Given the description of an element on the screen output the (x, y) to click on. 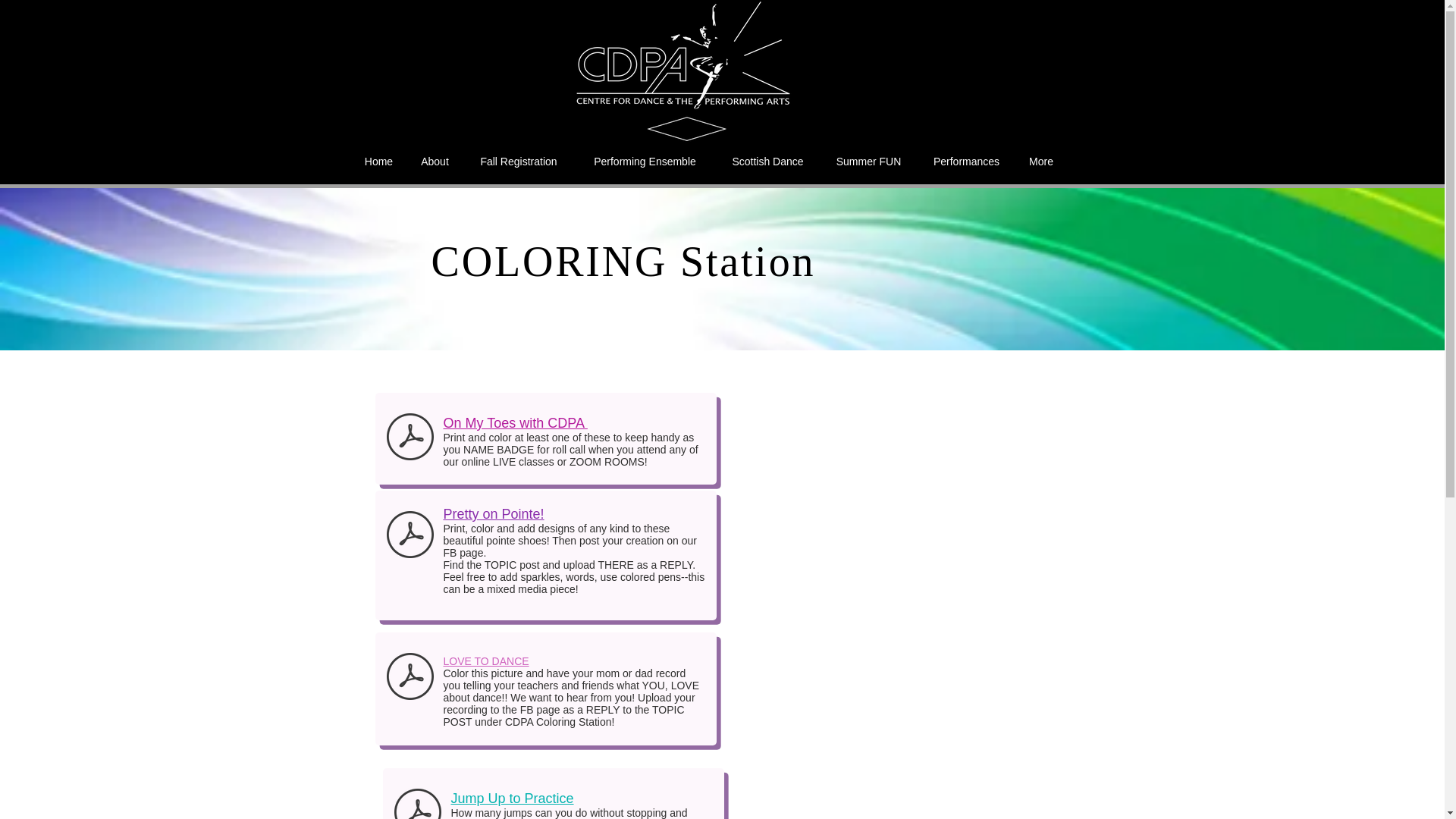
Fall Registration (518, 161)
Pretty on Pointe.pdf (408, 535)
Performing Ensemble (645, 161)
Home (378, 161)
Jump Up to Practice (511, 798)
I CAN DANCE SUMMER COLOR.pdf (408, 677)
LOVE TO DANCE (485, 661)
on my toes with CDPA.pdf (408, 437)
About (434, 161)
Scottish Dance (768, 161)
